Given the description of an element on the screen output the (x, y) to click on. 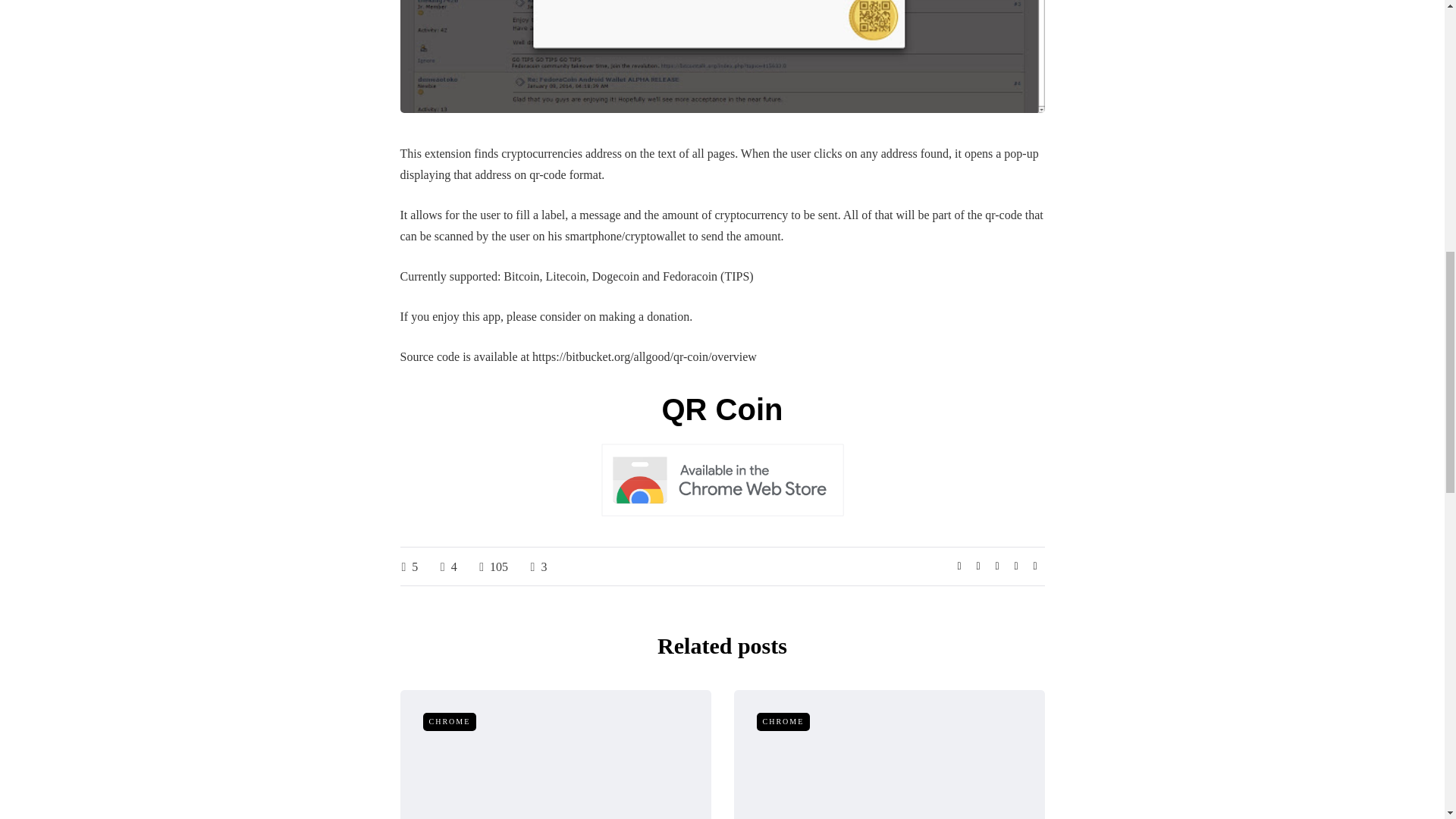
Share to Telegram (1016, 566)
Share by Email (1034, 566)
Tweet this (978, 566)
Share to WhatsApp (996, 566)
Share with Facebook (958, 566)
